Given the description of an element on the screen output the (x, y) to click on. 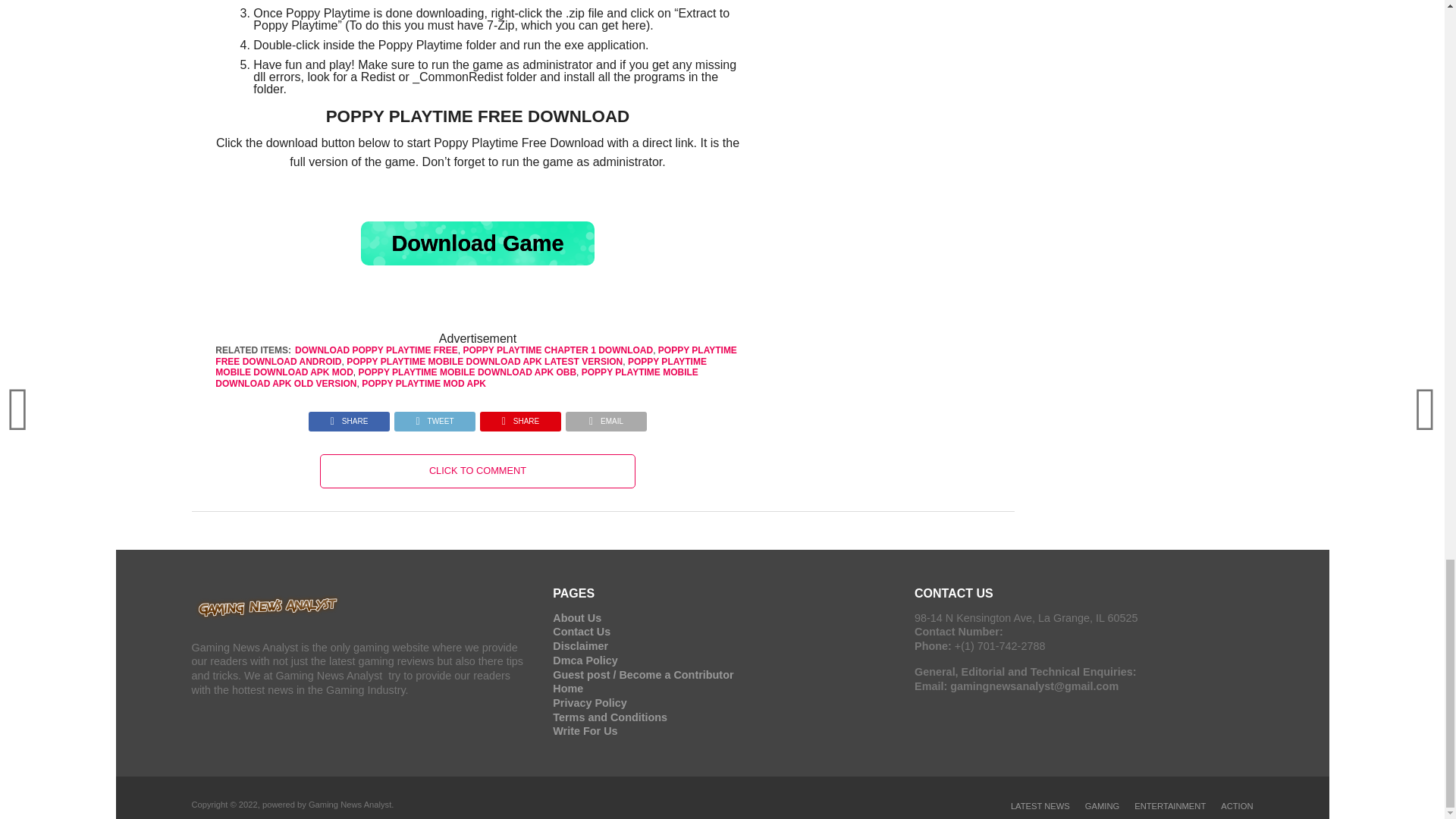
SHARE (349, 417)
POPPY PLAYTIME MOBILE DOWNLOAD APK LATEST VERSION (484, 361)
DOWNLOAD POPPY PLAYTIME FREE (376, 349)
TWEET (434, 417)
POPPY PLAYTIME MOBILE DOWNLOAD APK OLD VERSION (456, 377)
POPPY PLAYTIME MOD APK (423, 383)
POPPY PLAYTIME FREE DOWNLOAD ANDROID (475, 355)
Pin This Post (520, 417)
POPPY PLAYTIME MOBILE DOWNLOAD APK MOD (460, 366)
POPPY PLAYTIME MOBILE DOWNLOAD APK OBB (467, 371)
POPPY PLAYTIME CHAPTER 1 DOWNLOAD (557, 349)
Download Game (477, 243)
SHARE (520, 417)
Tweet This Post (434, 417)
Download Game (477, 243)
